Given the description of an element on the screen output the (x, y) to click on. 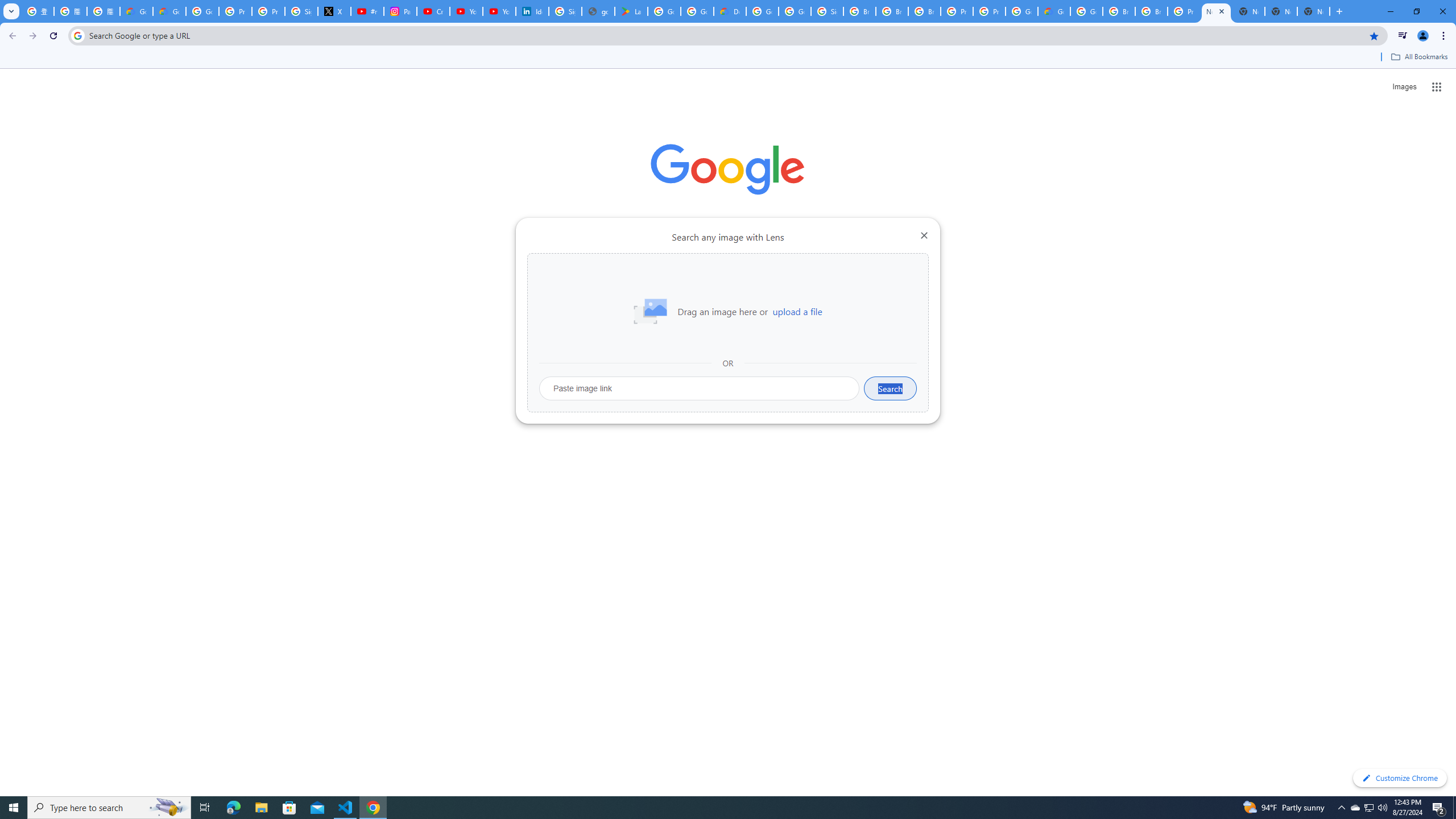
Google Cloud Privacy Notice (169, 11)
X (334, 11)
Browse Chrome as a guest - Computer - Google Chrome Help (891, 11)
YouTube Culture & Trends - YouTube Top 10, 2021 (499, 11)
Google Cloud Platform (762, 11)
